Given the description of an element on the screen output the (x, y) to click on. 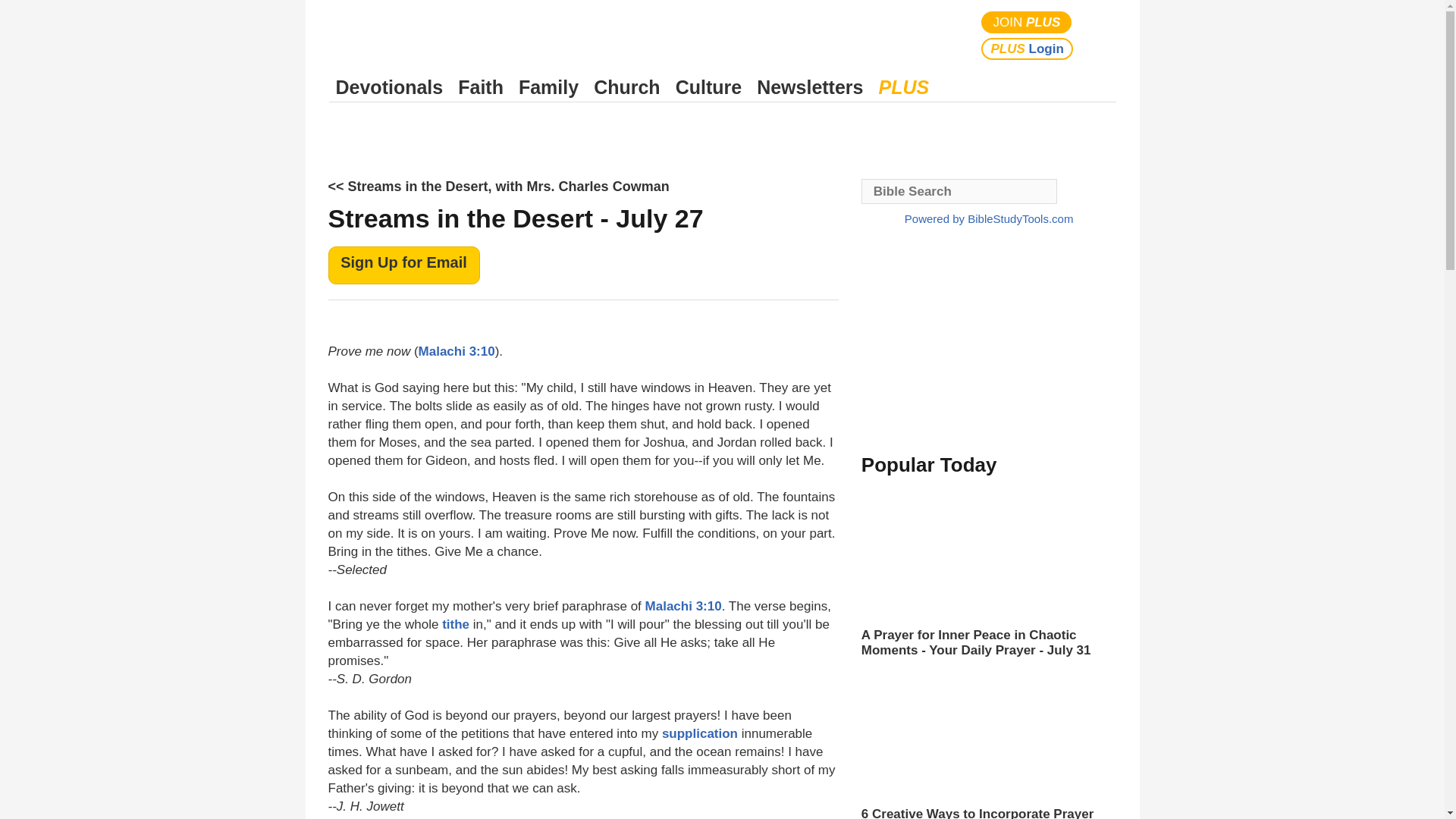
Faith (481, 87)
Plus Login (1026, 48)
Family (548, 87)
Devotionals (389, 87)
PLUS Login (1026, 48)
Join Plus (1026, 22)
Search (1101, 34)
JOIN PLUS (1026, 22)
